Given the description of an element on the screen output the (x, y) to click on. 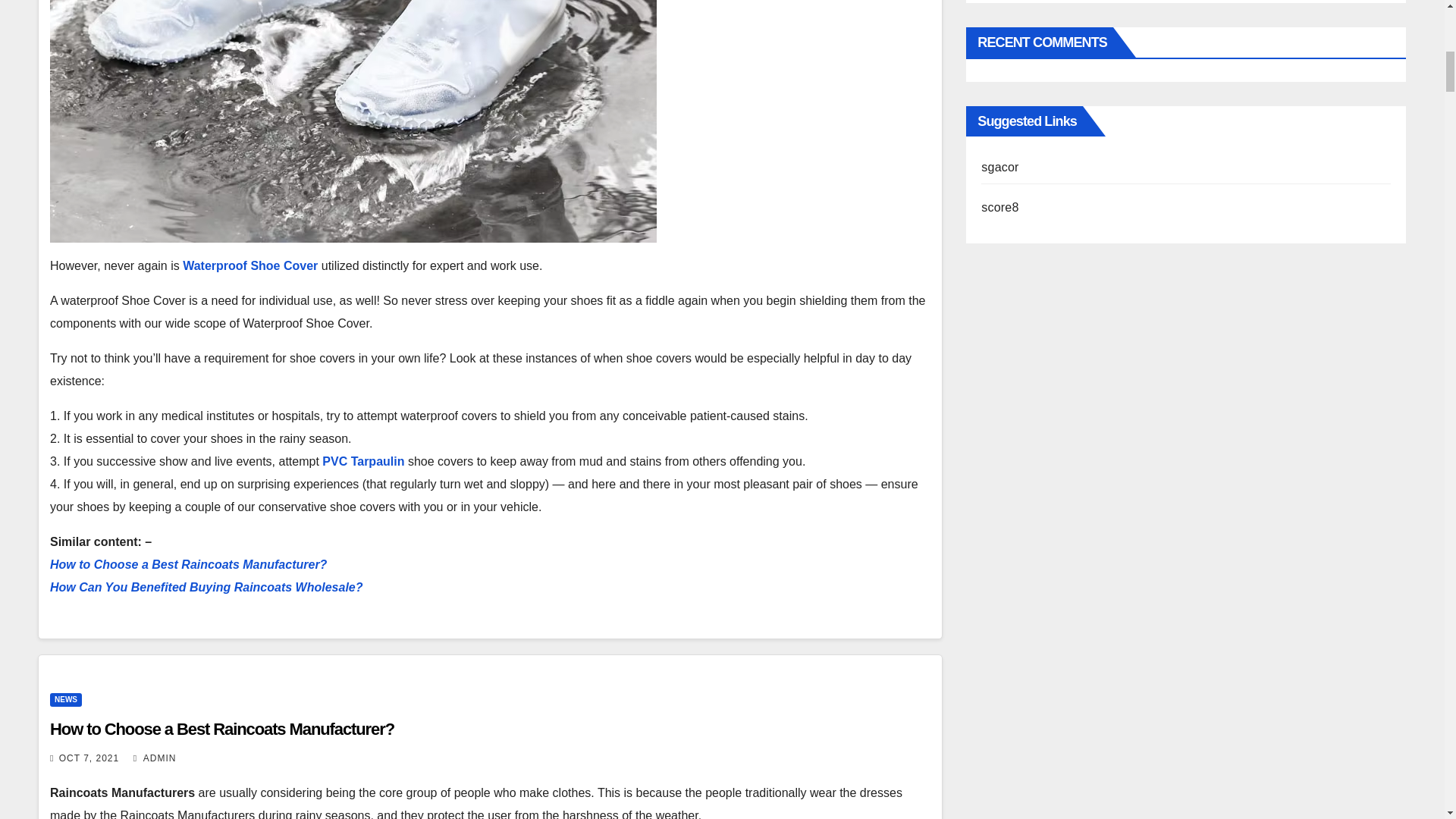
OCT 7, 2021 (89, 757)
NEWS (65, 699)
How to Choose a Best Raincoats Manufacturer? (187, 563)
How to Choose a Best Raincoats Manufacturer? (221, 728)
Waterproof Shoe Cover (250, 265)
ADMIN (154, 757)
PVC Tarpaulin (362, 461)
How Can You Benefited Buying Raincoats Wholesale? (205, 586)
